Given the description of an element on the screen output the (x, y) to click on. 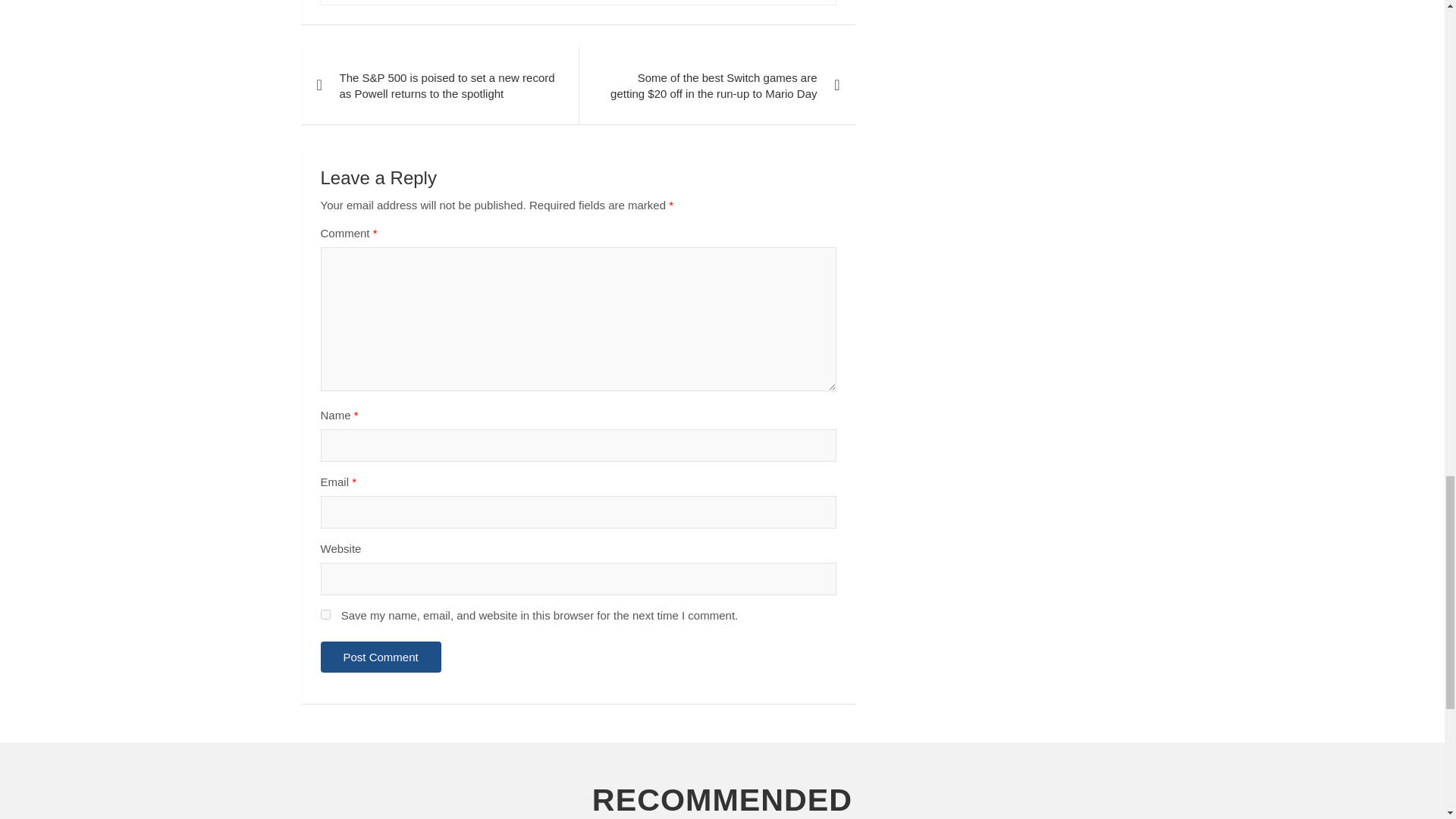
Post Comment (380, 656)
yes (325, 614)
Post Comment (380, 656)
